Given the description of an element on the screen output the (x, y) to click on. 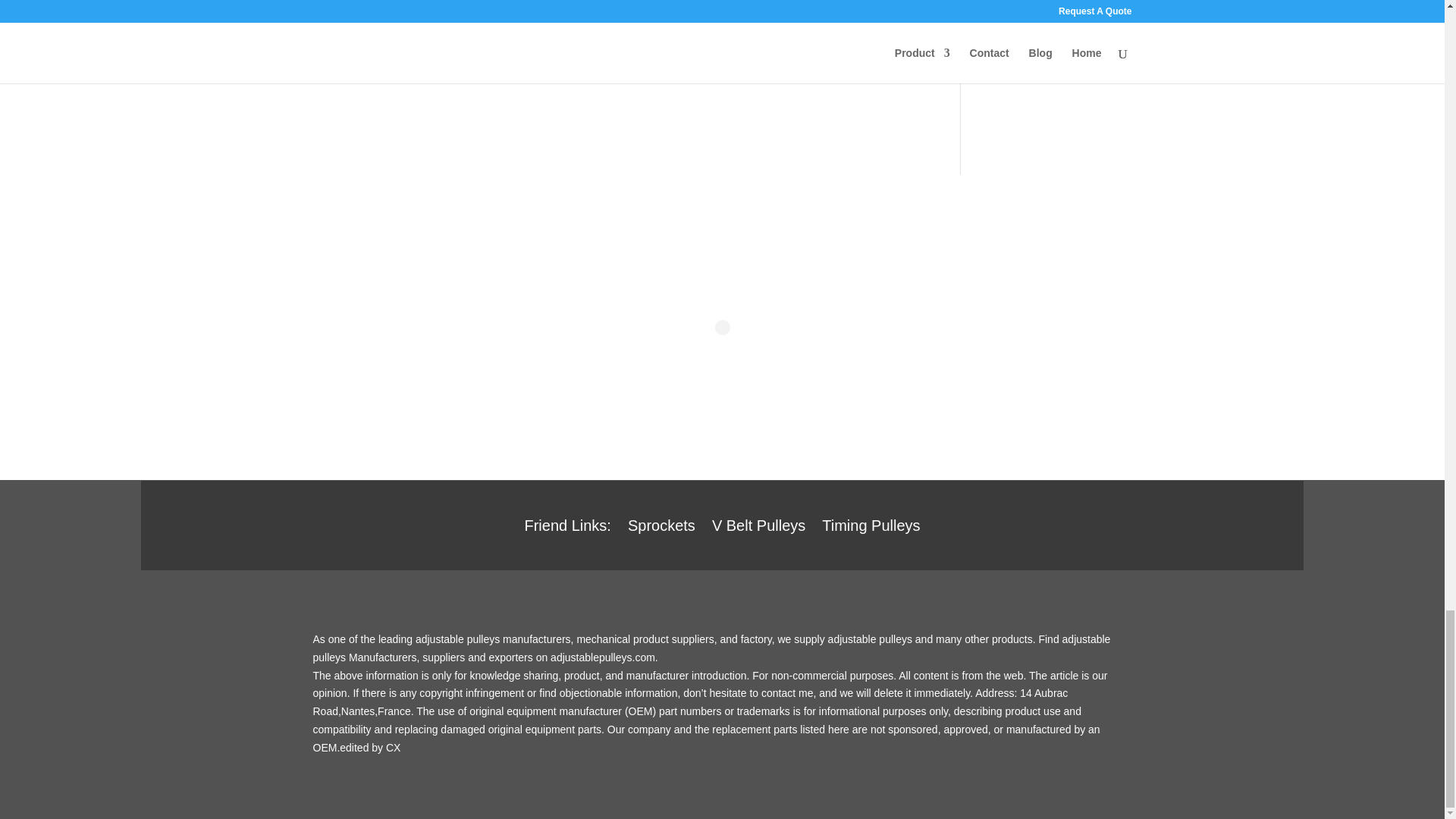
Friend Links: (567, 527)
Sprockets (661, 527)
Timing Pulleys (871, 527)
V Belt Pulleys (758, 527)
